Given the description of an element on the screen output the (x, y) to click on. 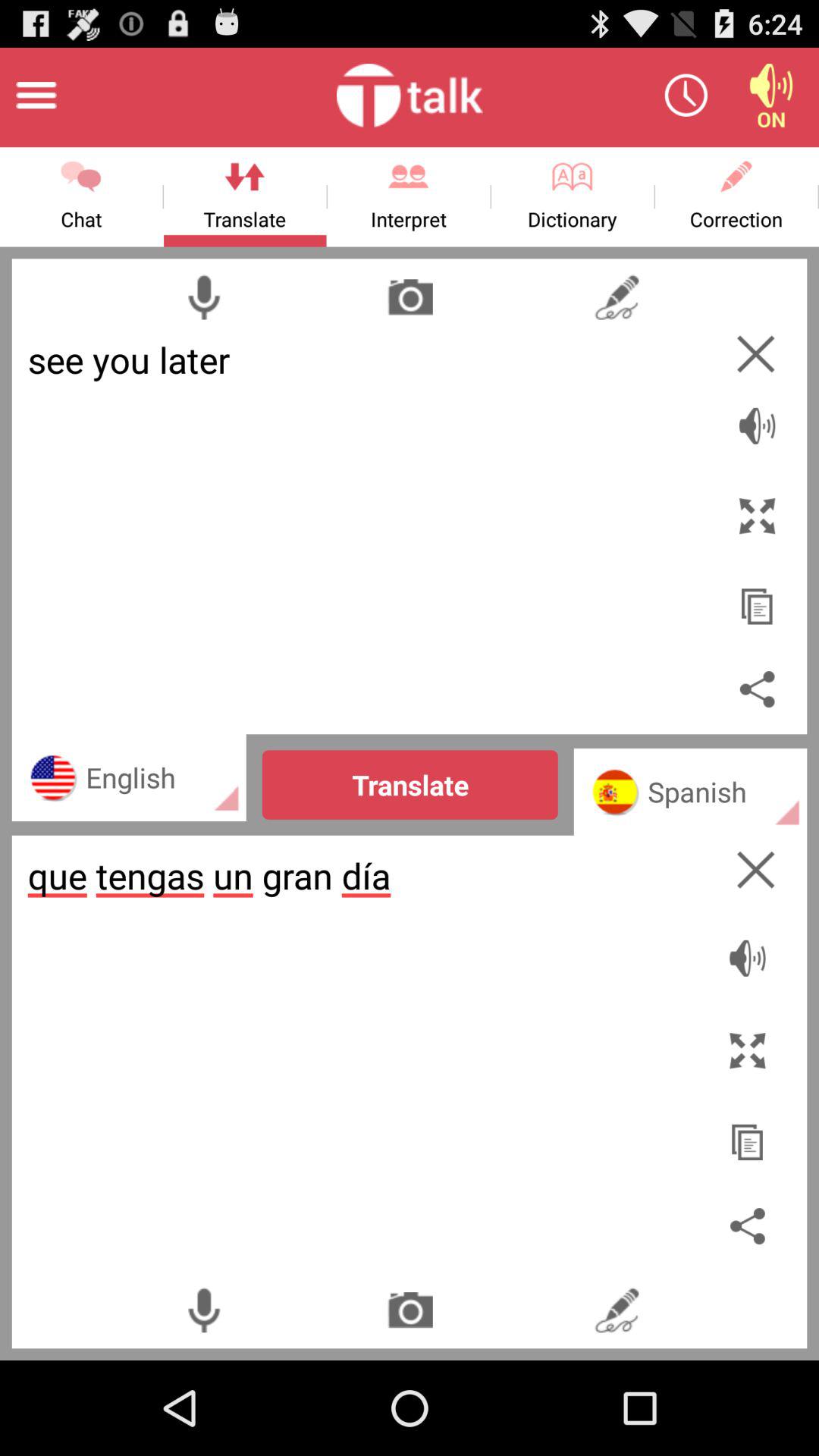
toggle microphone (203, 296)
